Given the description of an element on the screen output the (x, y) to click on. 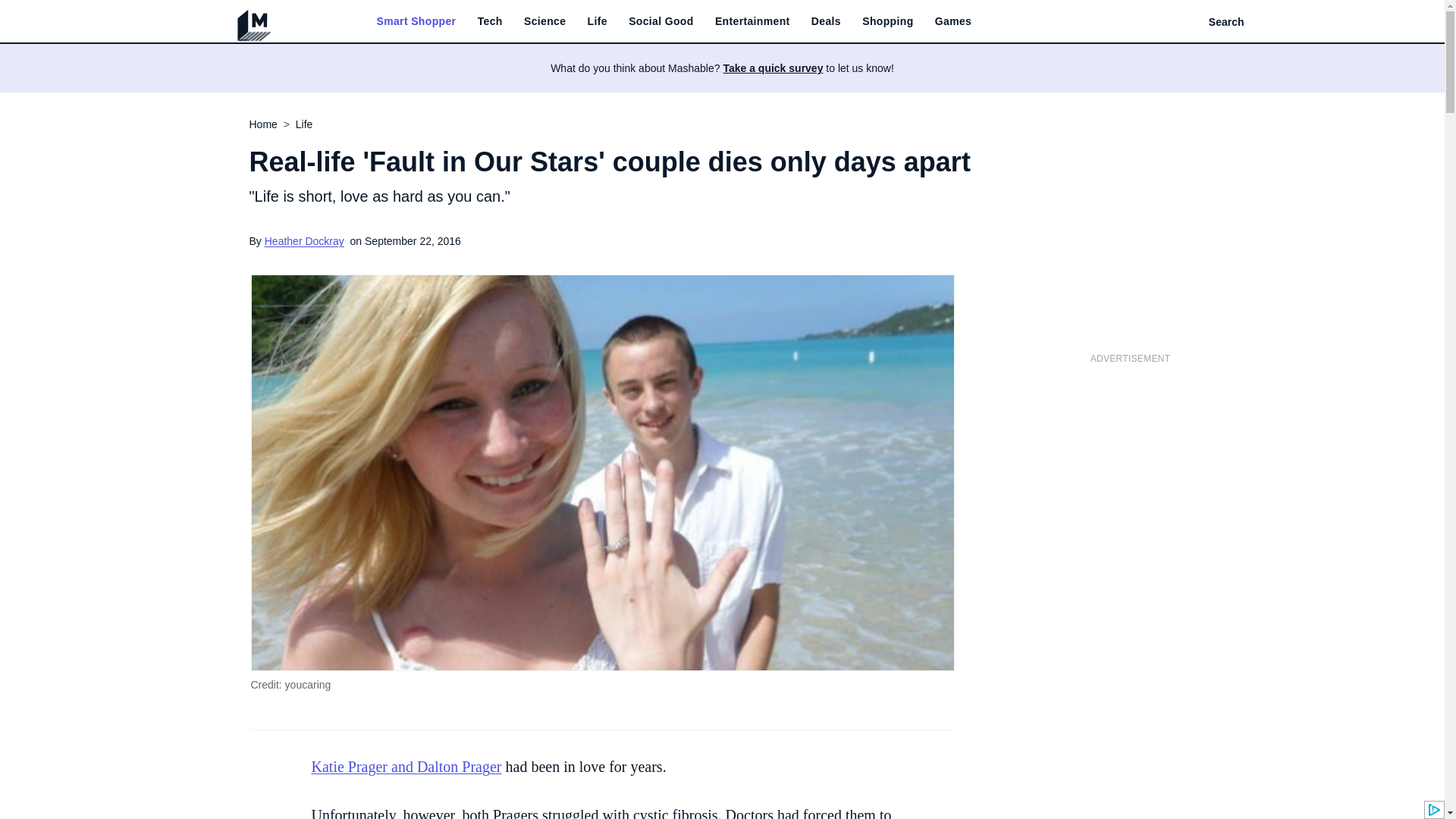
Smart Shopper (415, 21)
Science (545, 21)
Deals (825, 21)
Life (597, 21)
Tech (489, 21)
Entertainment (752, 21)
Games (952, 21)
Social Good (661, 21)
Shopping (886, 21)
